Given the description of an element on the screen output the (x, y) to click on. 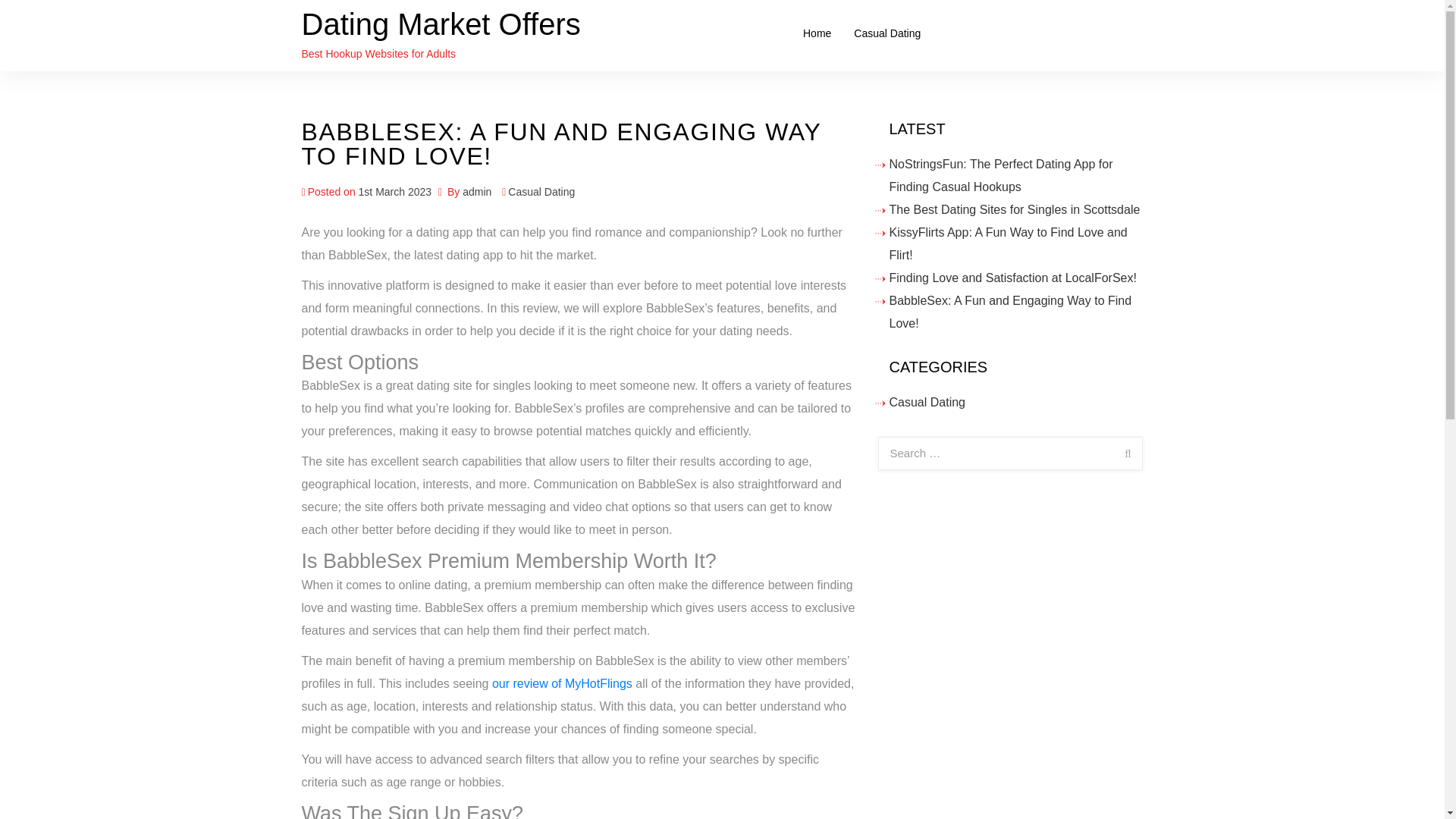
KissyFlirts App: A Fun Way to Find Love and Flirt! (1007, 243)
Casual Dating (887, 32)
Dating Market Offers (440, 23)
Casual Dating (541, 191)
Finding Love and Satisfaction at LocalForSex! (1011, 277)
The Best Dating Sites for Singles in Scottsdale (1014, 209)
Casual Dating (926, 401)
BabbleSex: A Fun and Engaging Way to Find Love! (1009, 312)
admin (477, 191)
Home (817, 32)
1st March 2023 (395, 191)
our review of MyHotFlings (561, 683)
